Given the description of an element on the screen output the (x, y) to click on. 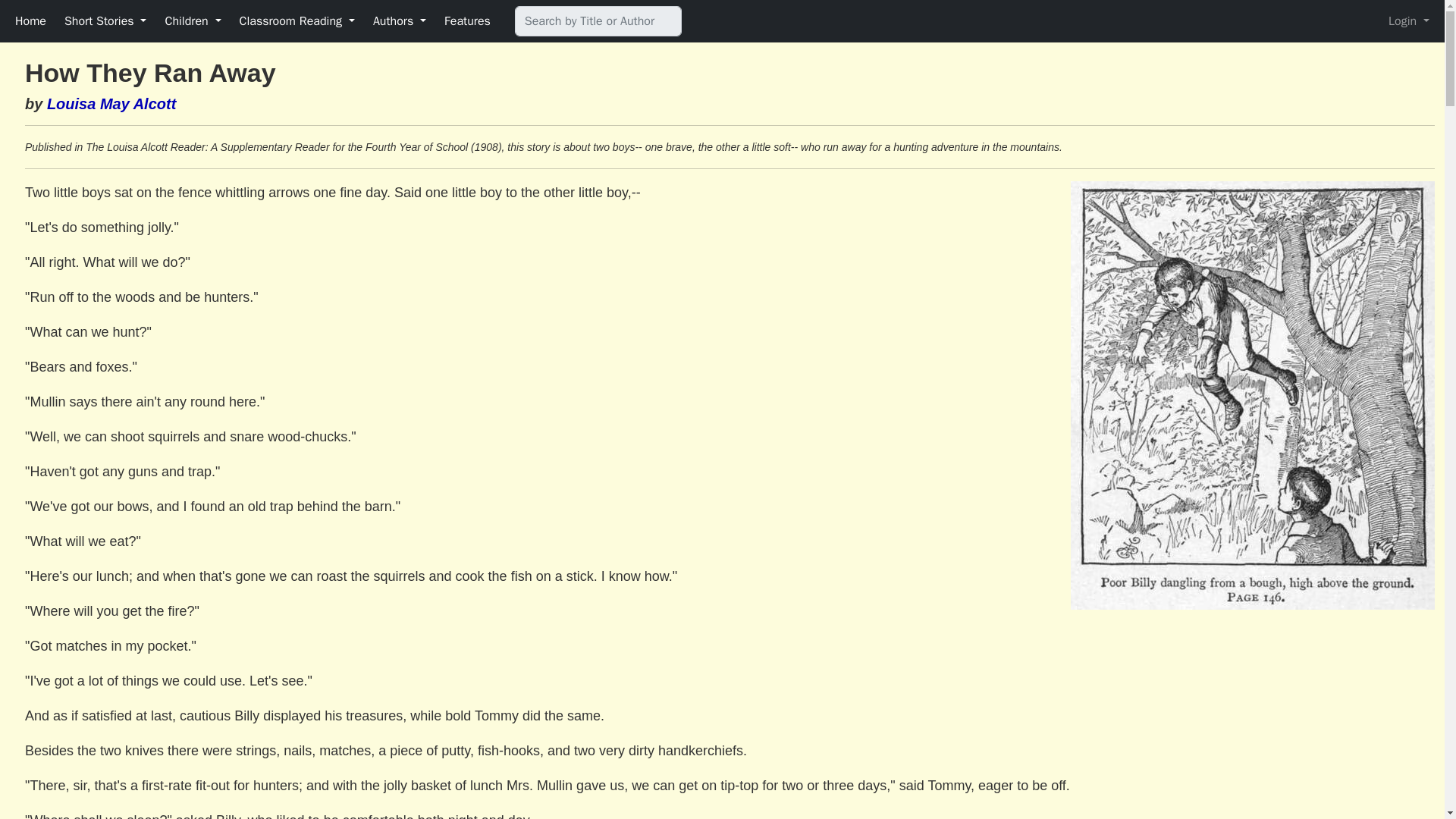
Short Stories (105, 20)
Home (30, 20)
Children (192, 20)
Advertisement (1306, 719)
